Given the description of an element on the screen output the (x, y) to click on. 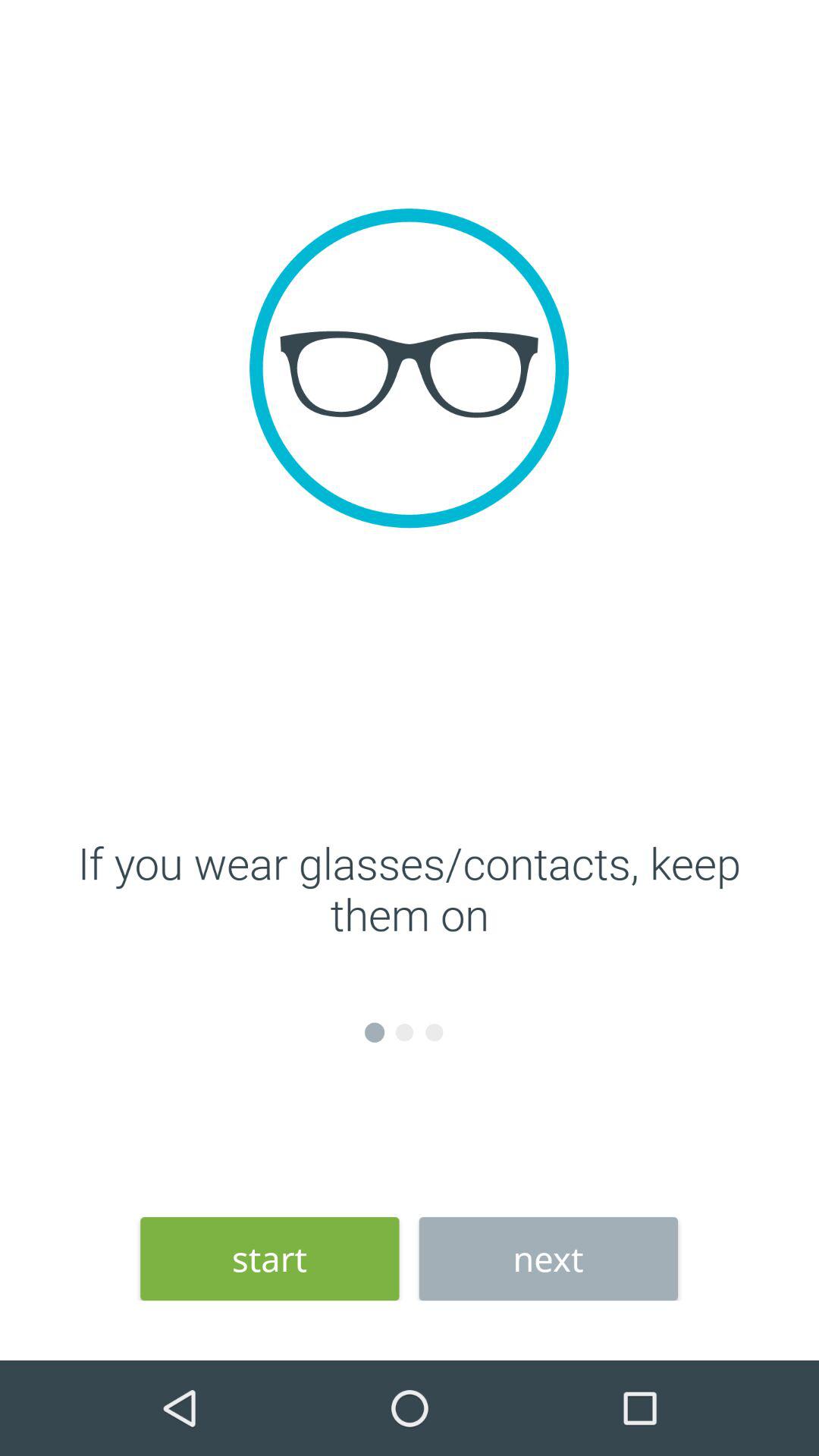
select the start (269, 1258)
